Given the description of an element on the screen output the (x, y) to click on. 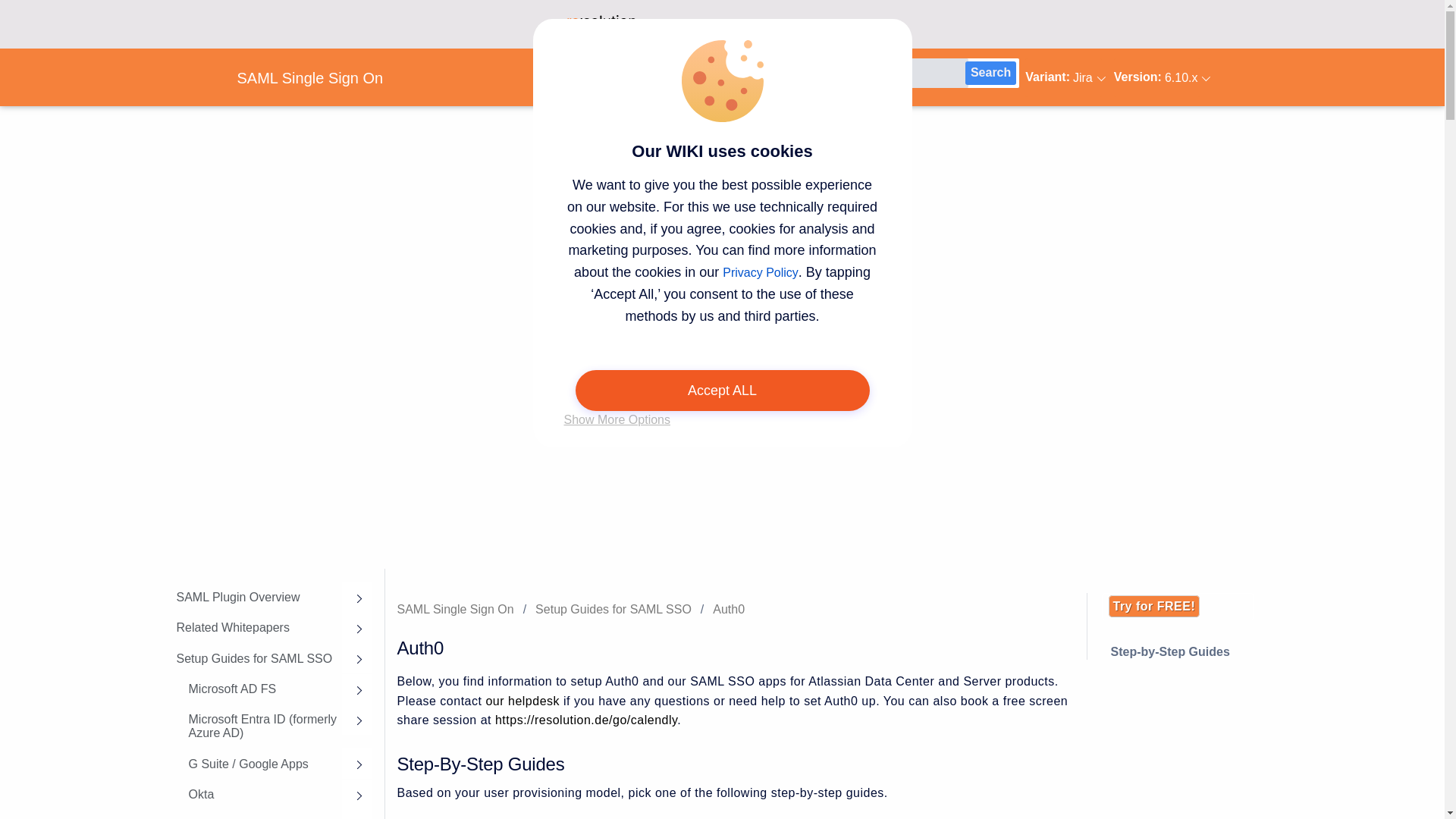
Blog (776, 24)
Jira (1062, 77)
SAML Single Sign On (314, 78)
Show More Options (617, 419)
Search (990, 73)
Accept ALL (722, 390)
Marketplace (836, 24)
Privacy Policy (759, 272)
6.10.x (1181, 78)
Search (990, 73)
6.10.x (1157, 77)
6.10.x (1181, 78)
Help Center (716, 24)
